Given the description of an element on the screen output the (x, y) to click on. 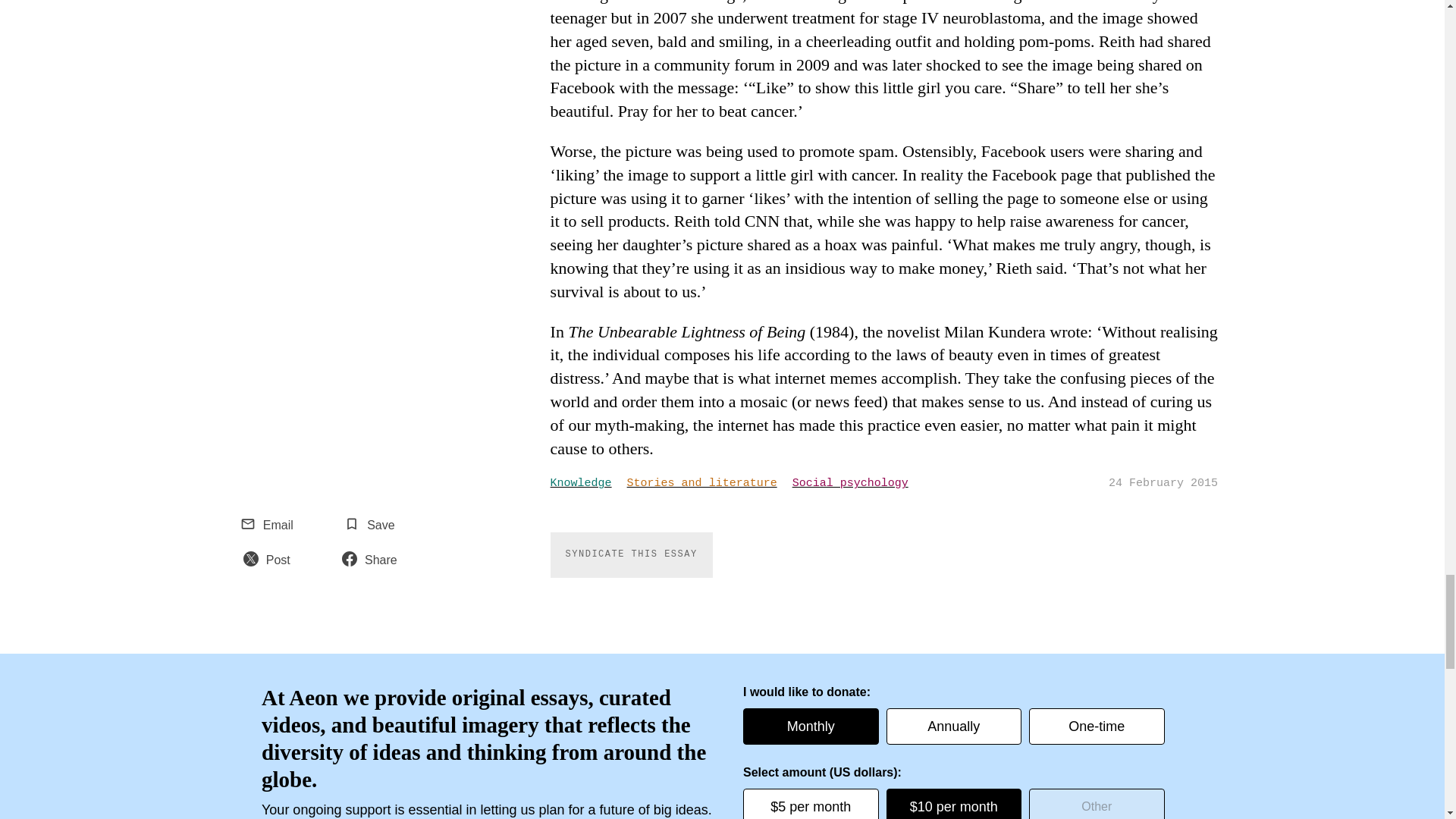
One-time (1096, 726)
Social psychology (857, 483)
Annually (953, 726)
SYNDICATE THIS ESSAY (631, 554)
Stories and literature (709, 483)
Monthly (810, 726)
Knowledge (588, 483)
